Given the description of an element on the screen output the (x, y) to click on. 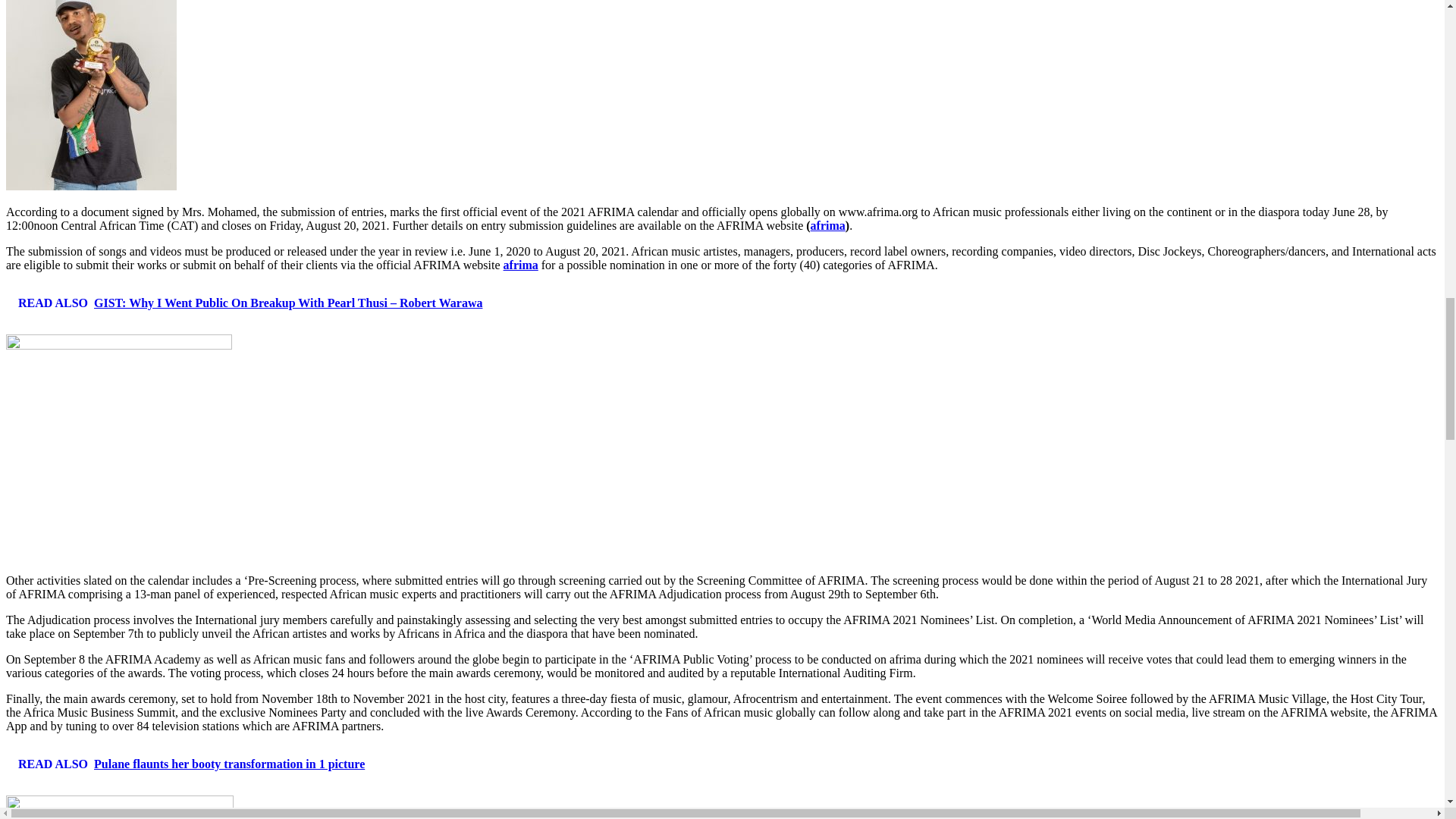
afrima (827, 225)
afrima (520, 264)
